Given the description of an element on the screen output the (x, y) to click on. 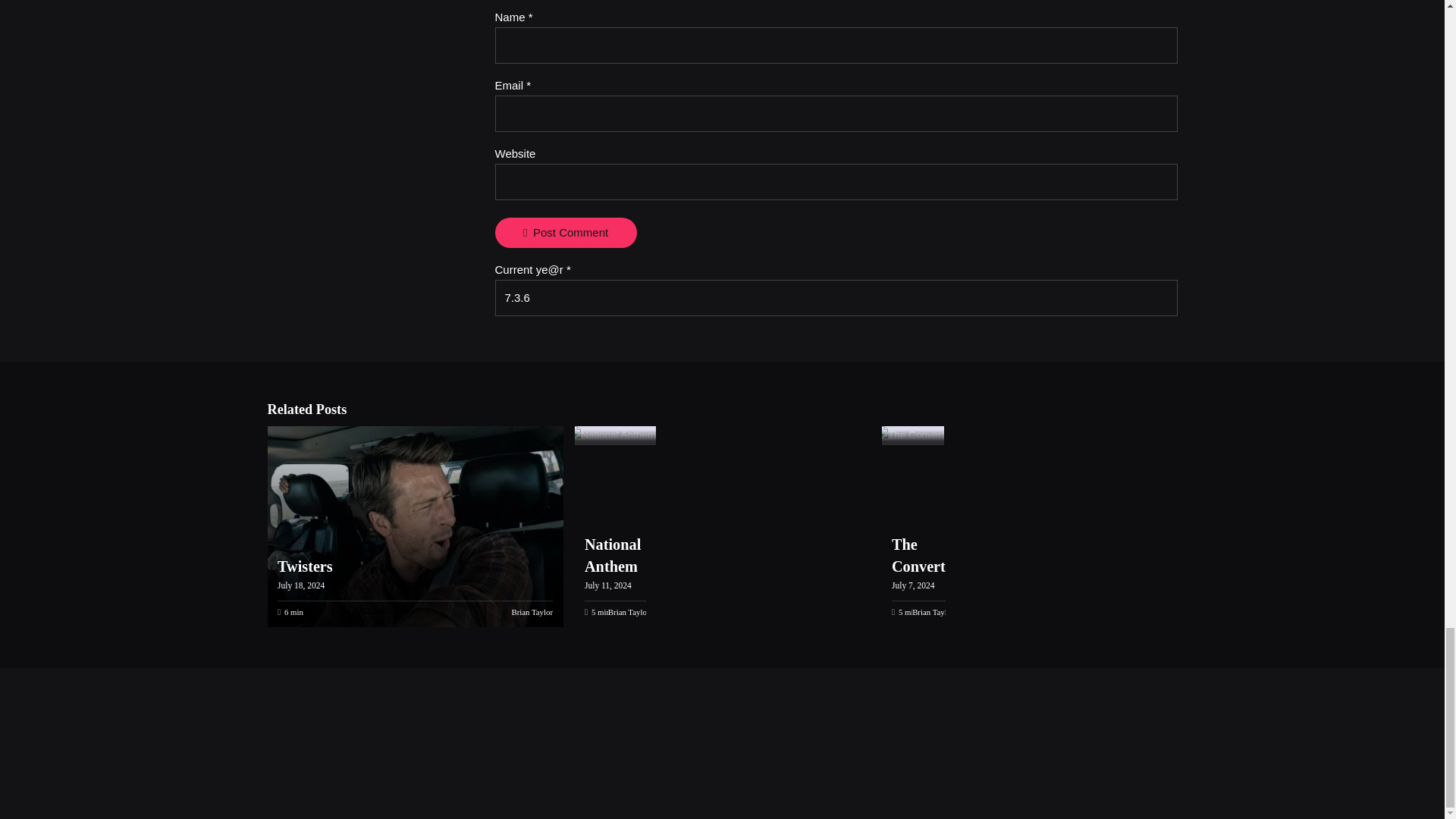
National Anthem (612, 555)
7.3.6 (835, 298)
Brian Taylor (932, 611)
National Anthem (612, 555)
Twisters (305, 565)
Brian Taylor (628, 611)
The Convert (917, 555)
The Convert (917, 555)
Twisters (412, 526)
National Anthem (612, 434)
Brian Taylor (532, 611)
The Convert (909, 434)
Post Comment (565, 232)
Twisters (305, 565)
